Given the description of an element on the screen output the (x, y) to click on. 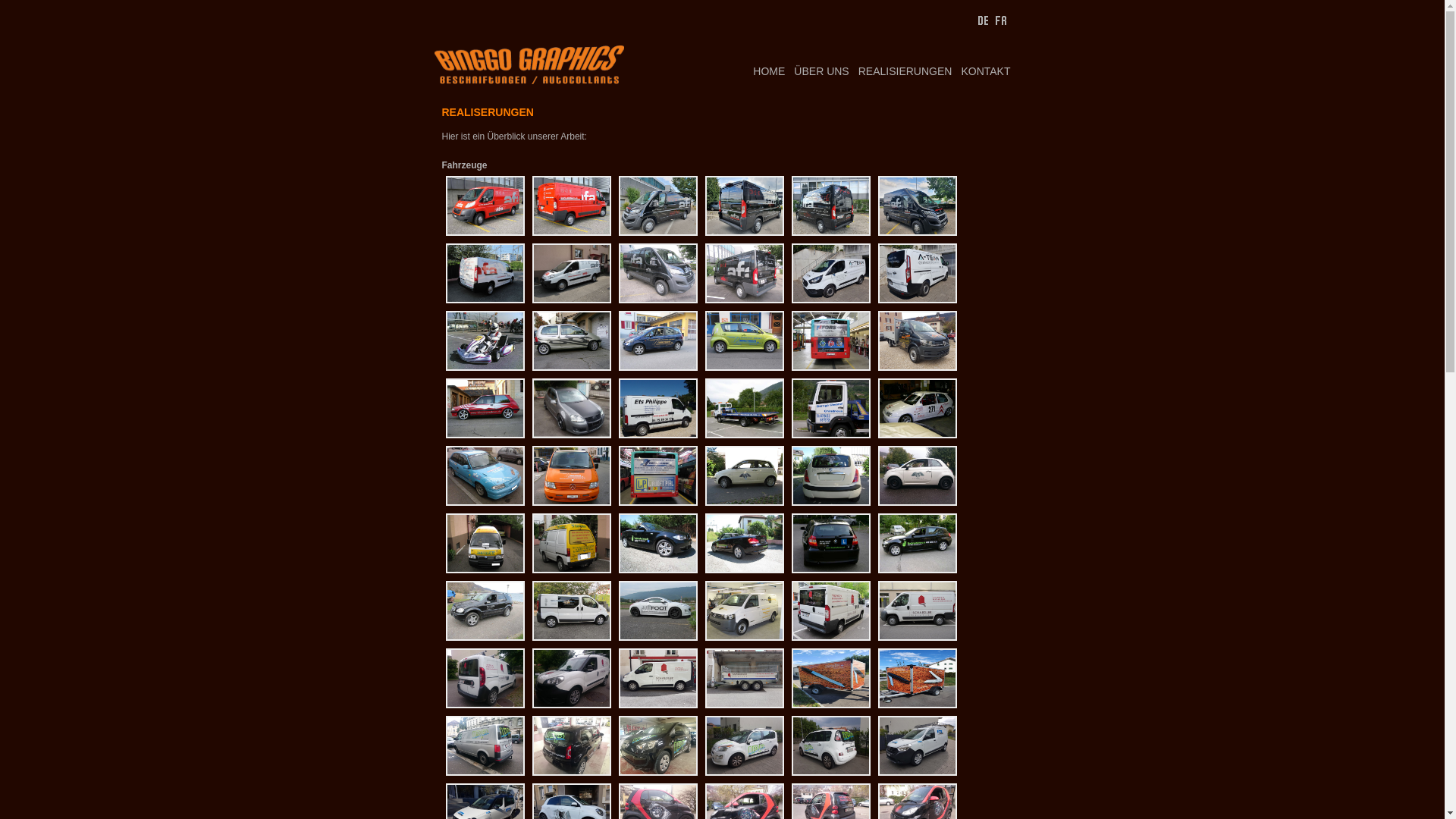
KONTAKT Element type: text (980, 71)
REALISIERUNGEN Element type: text (900, 71)
Deutsch (DE-CH-AT) Element type: hover (982, 20)
HOME Element type: text (763, 71)
Home Element type: hover (528, 64)
French (Fr) Element type: hover (1000, 20)
